Given the description of an element on the screen output the (x, y) to click on. 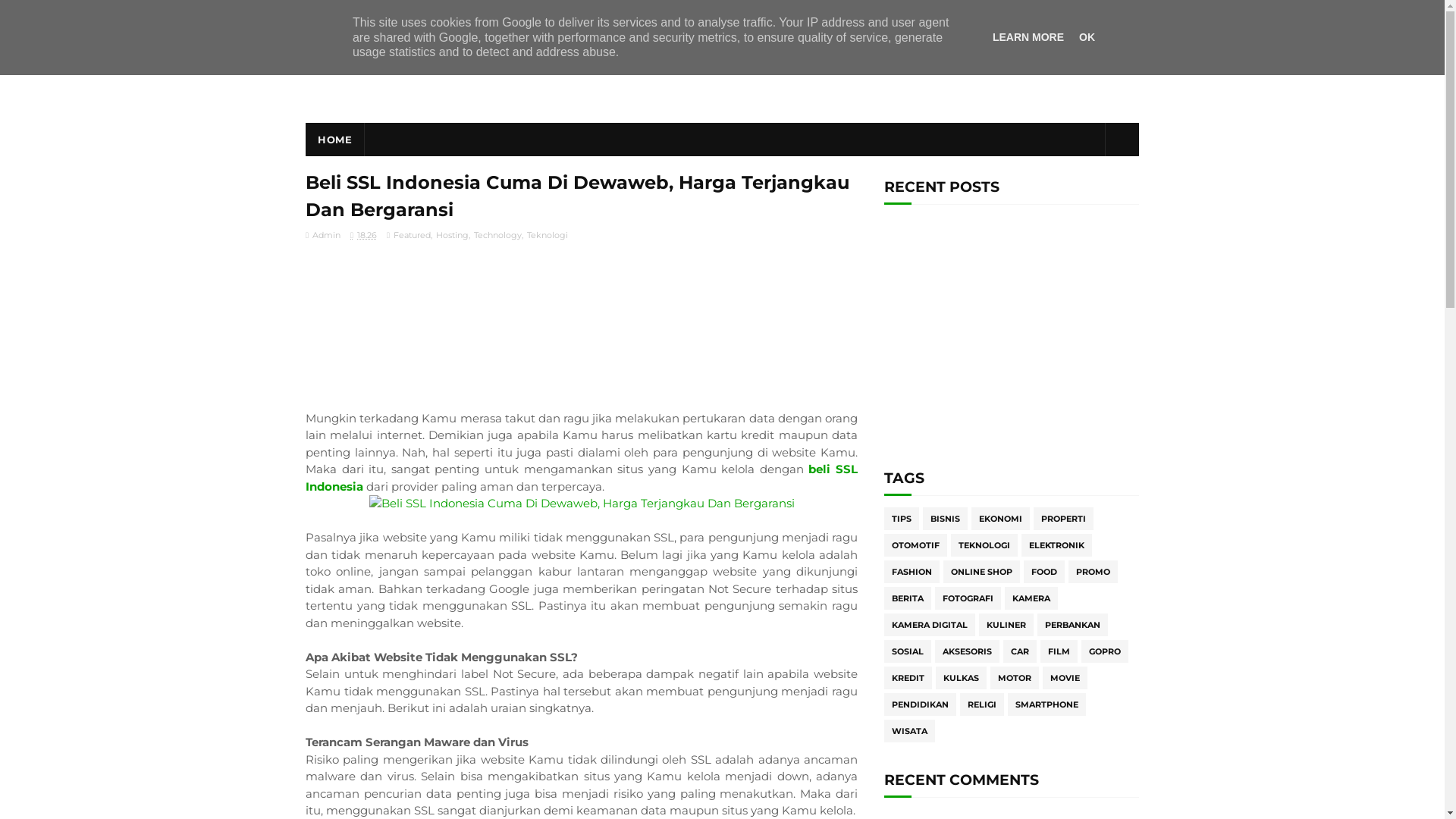
PERBANKAN Element type: text (1072, 624)
FILM Element type: text (1058, 651)
OK Element type: text (1086, 37)
KULINER Element type: text (1006, 624)
Advertisement Element type: hover (581, 323)
FOOD Element type: text (1043, 571)
PROPERTI Element type: text (1063, 518)
FOTOGRAFI Element type: text (968, 597)
TEKNOLOGI Element type: text (983, 544)
LEARN MORE Element type: text (1028, 37)
TIPS Element type: text (901, 518)
KULKAS Element type: text (960, 677)
SHOP Element type: text (430, 13)
BISNIS Element type: text (944, 518)
KAMERA Element type: text (1030, 597)
EKONOMI Element type: text (1000, 518)
18.26 Element type: text (363, 234)
Technology Element type: text (496, 234)
PENDIDIKAN Element type: text (920, 704)
MOVIE Element type: text (1064, 677)
CAR Element type: text (1019, 651)
PROMO Element type: text (1092, 571)
RELIGI Element type: text (982, 704)
GOPRO Element type: text (1104, 651)
SUPPORT Element type: text (375, 13)
ONLINE SHOP Element type: text (981, 571)
BERITA Element type: text (907, 597)
Admin Element type: text (322, 234)
OTOMOTIF Element type: text (915, 544)
SOSIAL Element type: text (907, 651)
Advertisement Element type: hover (862, 73)
ABOUT Element type: text (480, 13)
ELEKTRONIK Element type: text (1056, 544)
Advertisement Element type: hover (1011, 337)
Teknologi Element type: text (546, 234)
MOTOR Element type: text (1014, 677)
CONTACT US Element type: text (547, 13)
AKSESORIS Element type: text (967, 651)
WISATA Element type: text (909, 730)
KREDIT Element type: text (907, 677)
Hosting Element type: text (451, 234)
HOME Element type: text (318, 13)
KAMERA DIGITAL Element type: text (929, 624)
FASHION Element type: text (911, 571)
Featured Element type: text (411, 234)
SMARTPHONE Element type: text (1046, 704)
beli SSL Indonesia Element type: text (581, 477)
HOME Element type: text (334, 139)
